Given the description of an element on the screen output the (x, y) to click on. 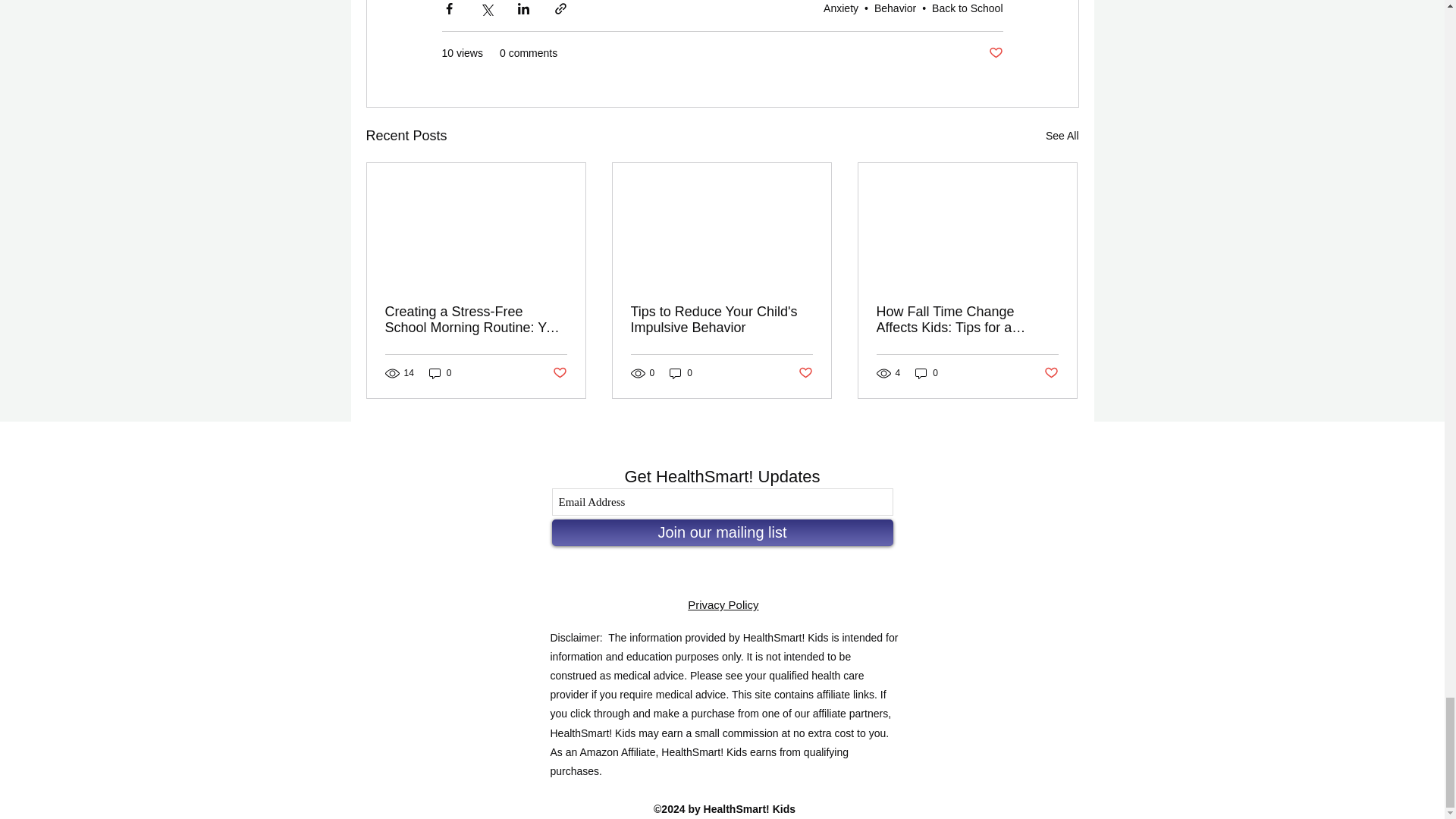
Post not marked as liked (558, 373)
Tips to Reduce Your Child's Impulsive Behavior (721, 319)
Behavior (895, 8)
0 (440, 373)
Back to School (967, 8)
Post not marked as liked (995, 53)
Creating a Stress-Free School Morning Routine: Your Guide (476, 319)
0 (681, 373)
Post not marked as liked (804, 373)
